Given the description of an element on the screen output the (x, y) to click on. 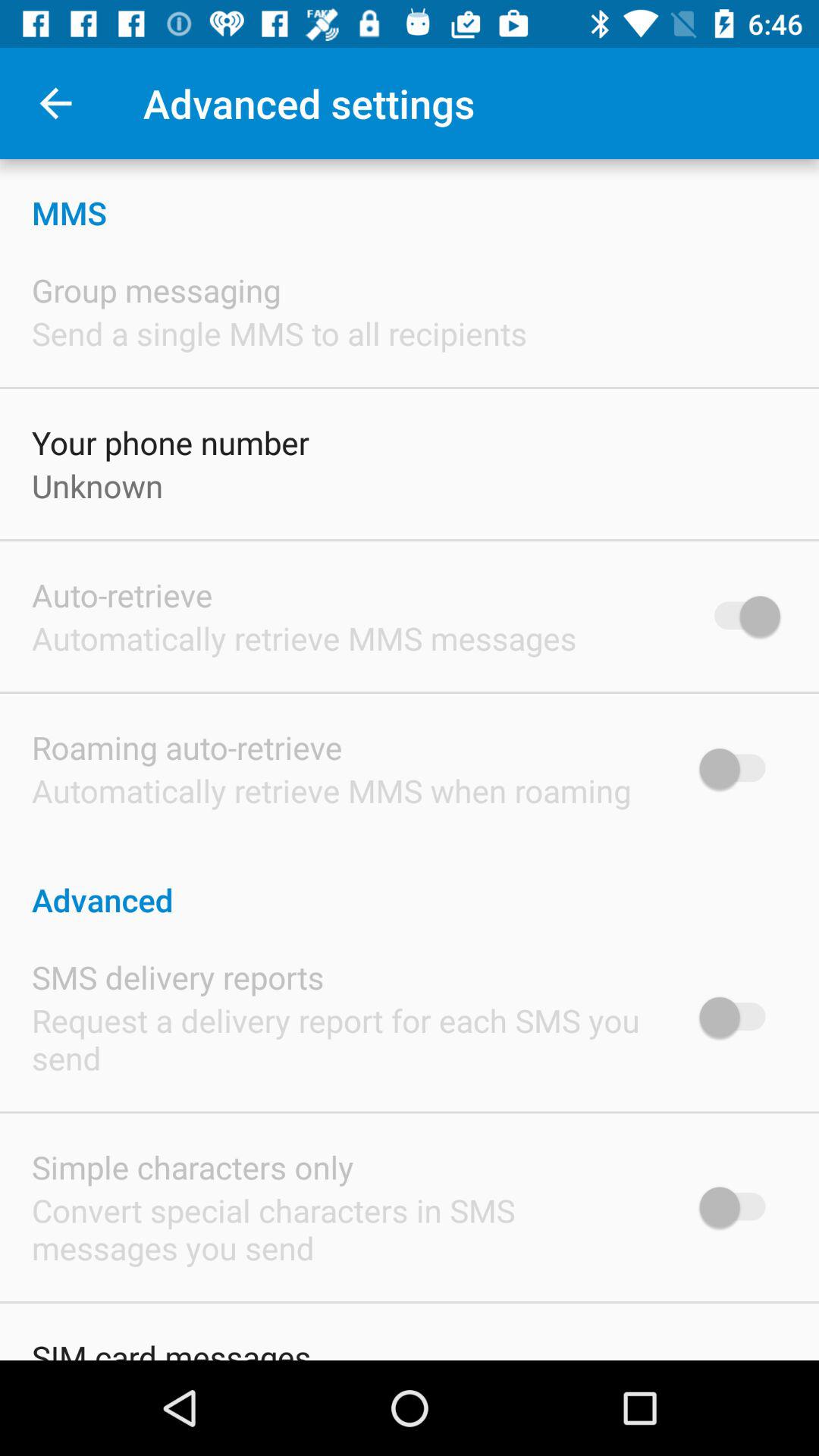
flip until the request a delivery (345, 1038)
